Given the description of an element on the screen output the (x, y) to click on. 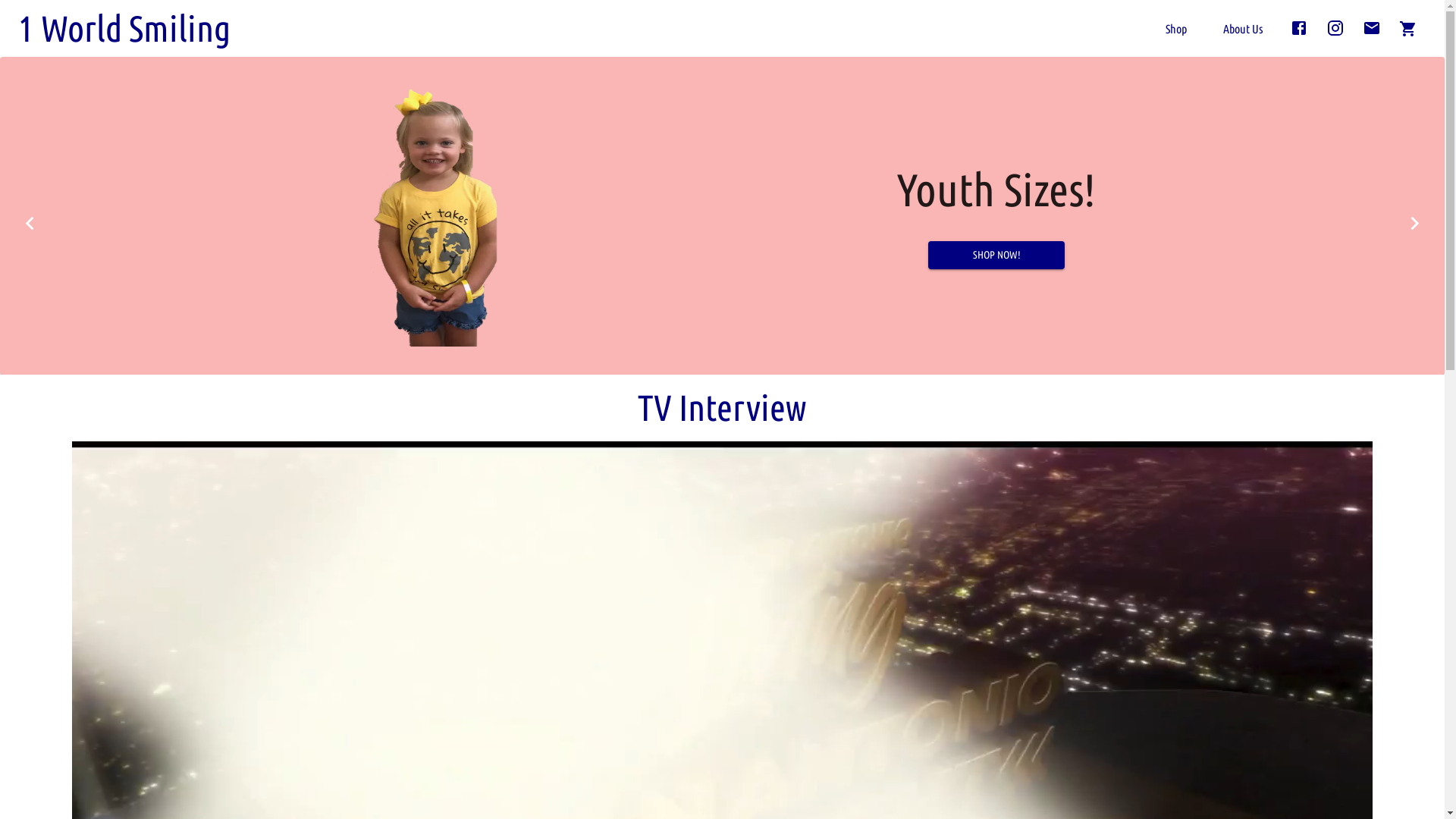
0 Element type: text (1408, 28)
SHOP NOW! Element type: text (1000, 255)
